Given the description of an element on the screen output the (x, y) to click on. 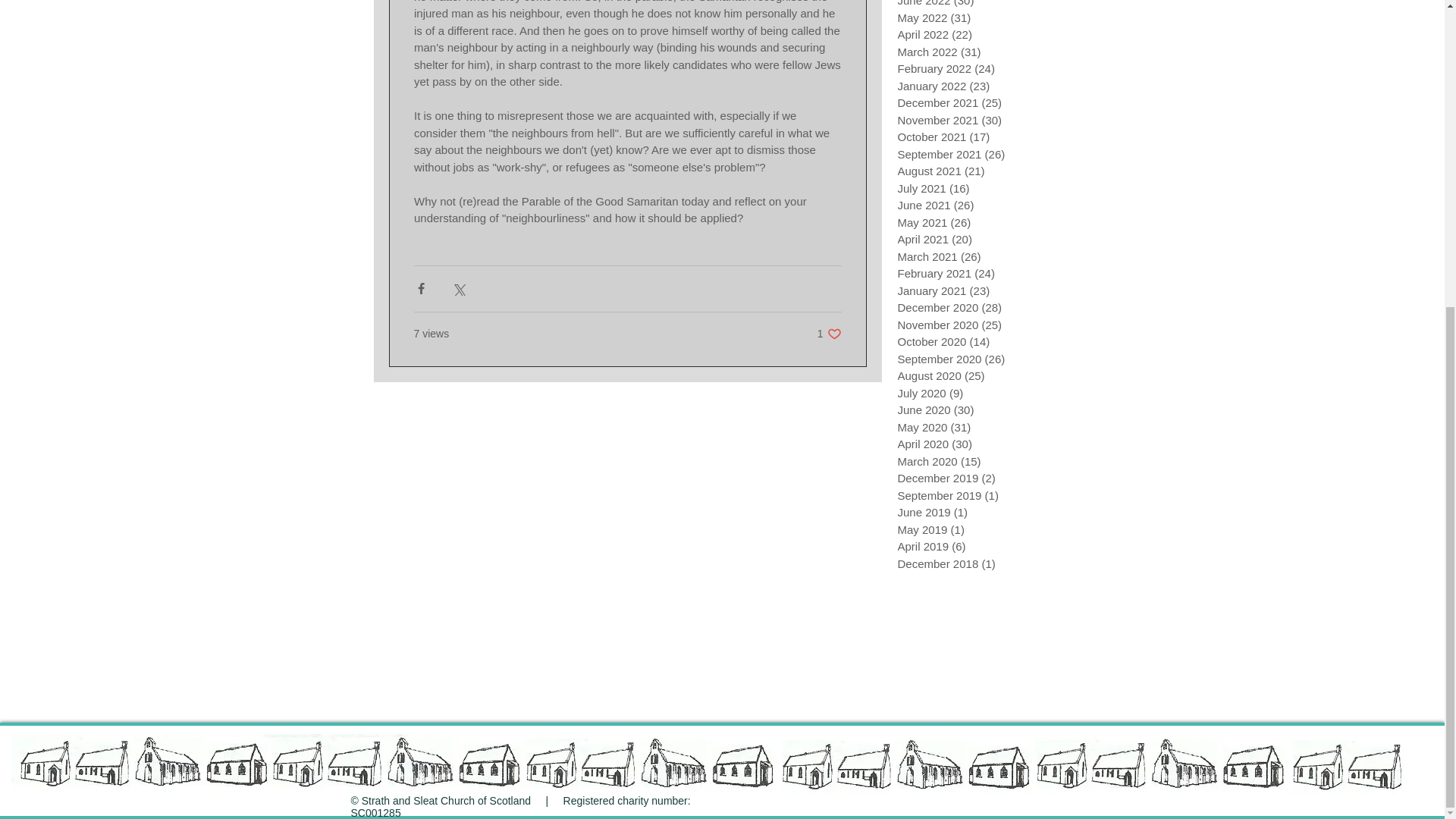
Churches sketches.jpg (712, 763)
